Given the description of an element on the screen output the (x, y) to click on. 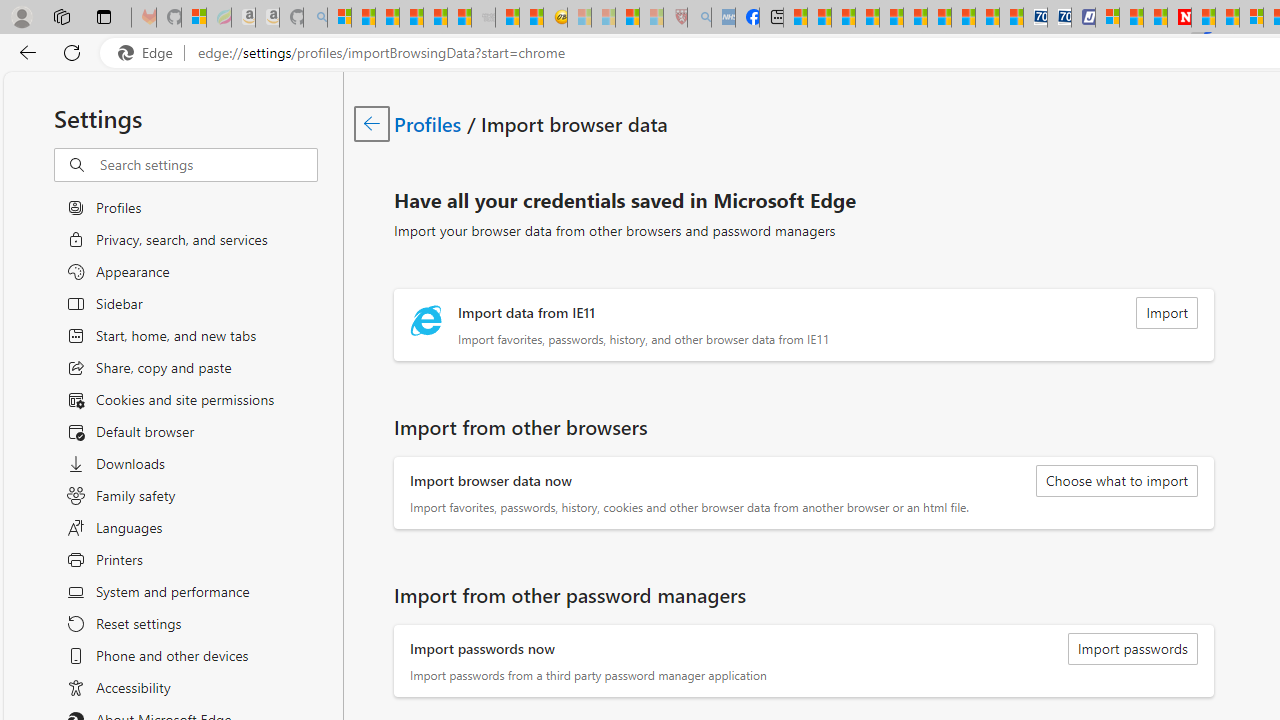
12 Popular Science Lies that Must be Corrected - Sleeping (651, 17)
Climate Damage Becomes Too Severe To Reverse (867, 17)
Newsweek - News, Analysis, Politics, Business, Technology (1179, 17)
Combat Siege - Sleeping (483, 17)
Edge (150, 53)
